Given the description of an element on the screen output the (x, y) to click on. 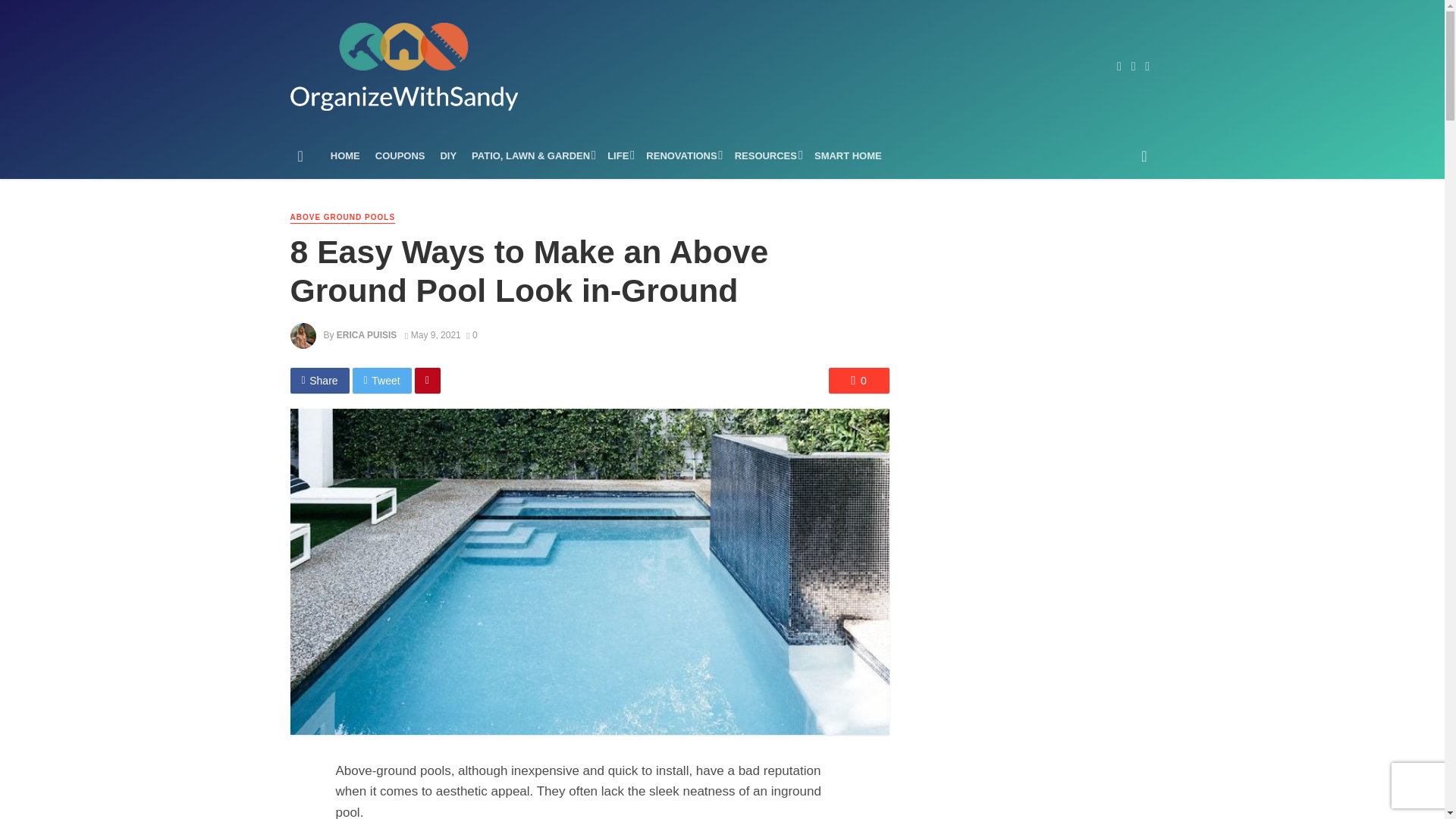
Tweet (382, 380)
0 (858, 380)
RENOVATIONS (682, 156)
Share (319, 380)
ABOVE GROUND POOLS (341, 217)
0 (471, 335)
May 9, 2021 at 11:01 am (432, 335)
COUPONS (400, 156)
SMART HOME (847, 156)
RESOURCES (766, 156)
0 Comments (471, 335)
Posts by Erica Puisis (366, 335)
HOME (345, 156)
ERICA PUISIS (366, 335)
